Given the description of an element on the screen output the (x, y) to click on. 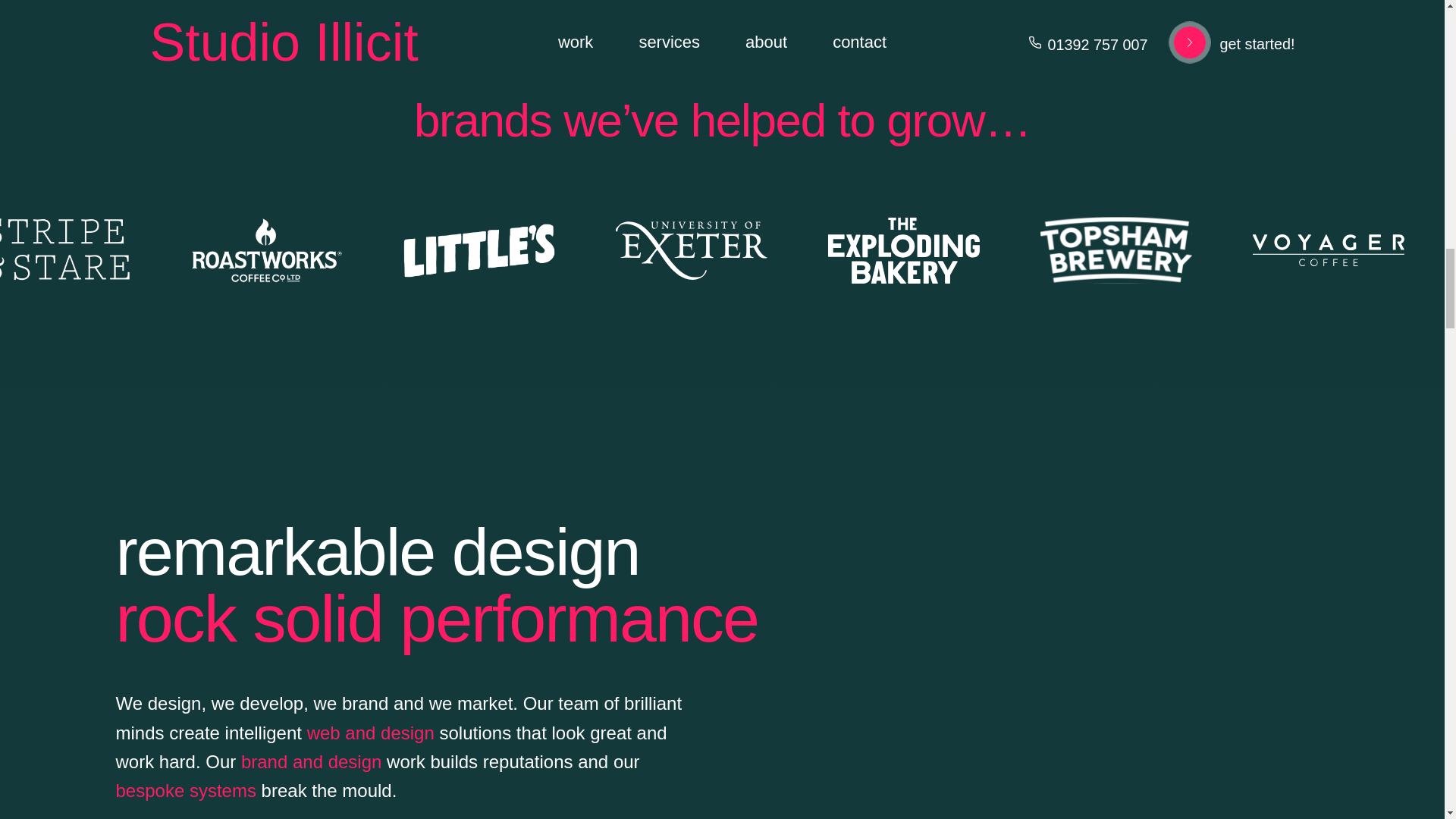
web and design (370, 732)
brand and design (311, 761)
bespoke systems (185, 790)
